Given the description of an element on the screen output the (x, y) to click on. 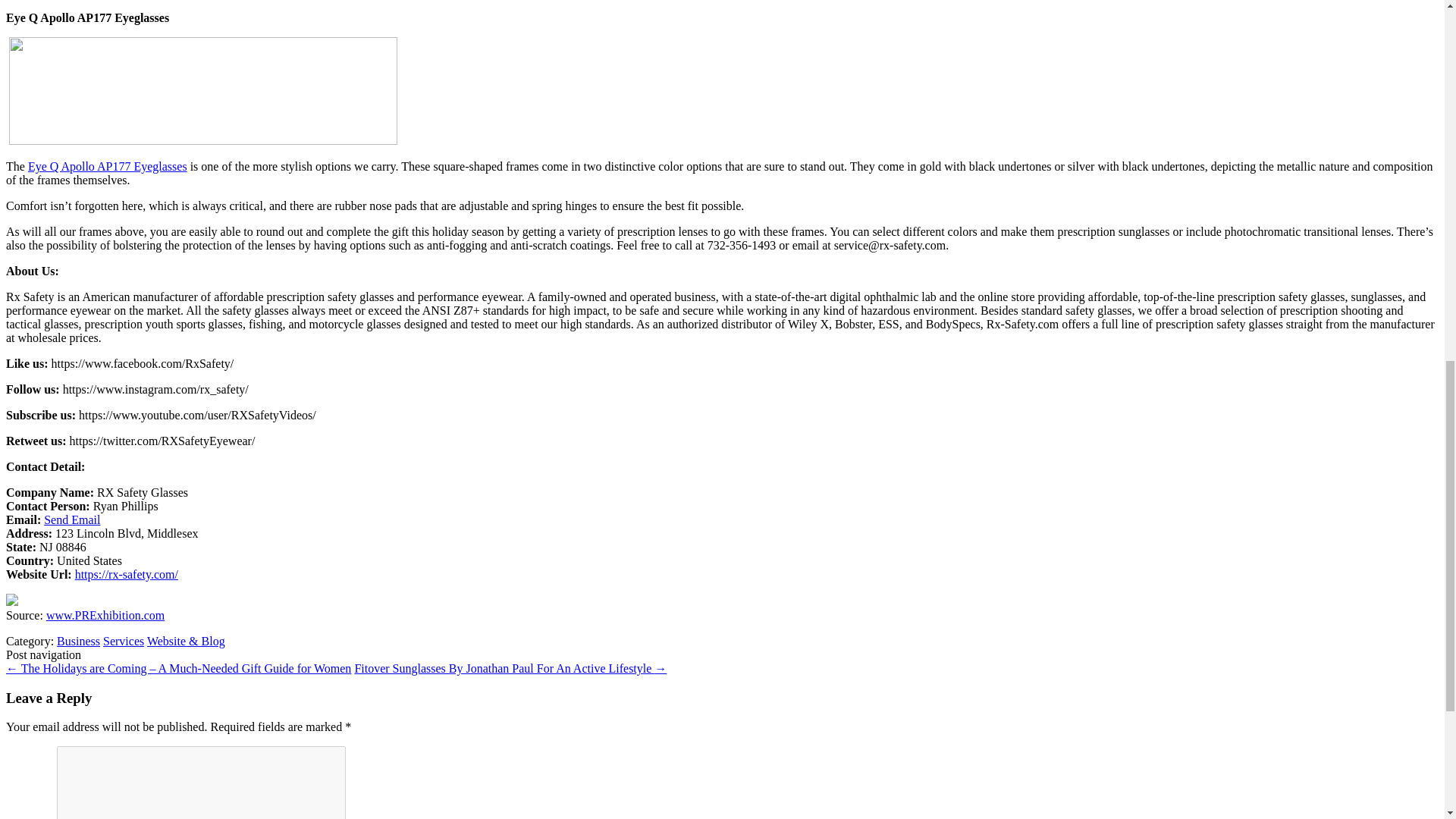
www.PRExhibition.com (105, 615)
Send Email (71, 519)
Services (123, 640)
Business (78, 640)
Eye Q Apollo AP177 Eyeglasses (107, 165)
